Given the description of an element on the screen output the (x, y) to click on. 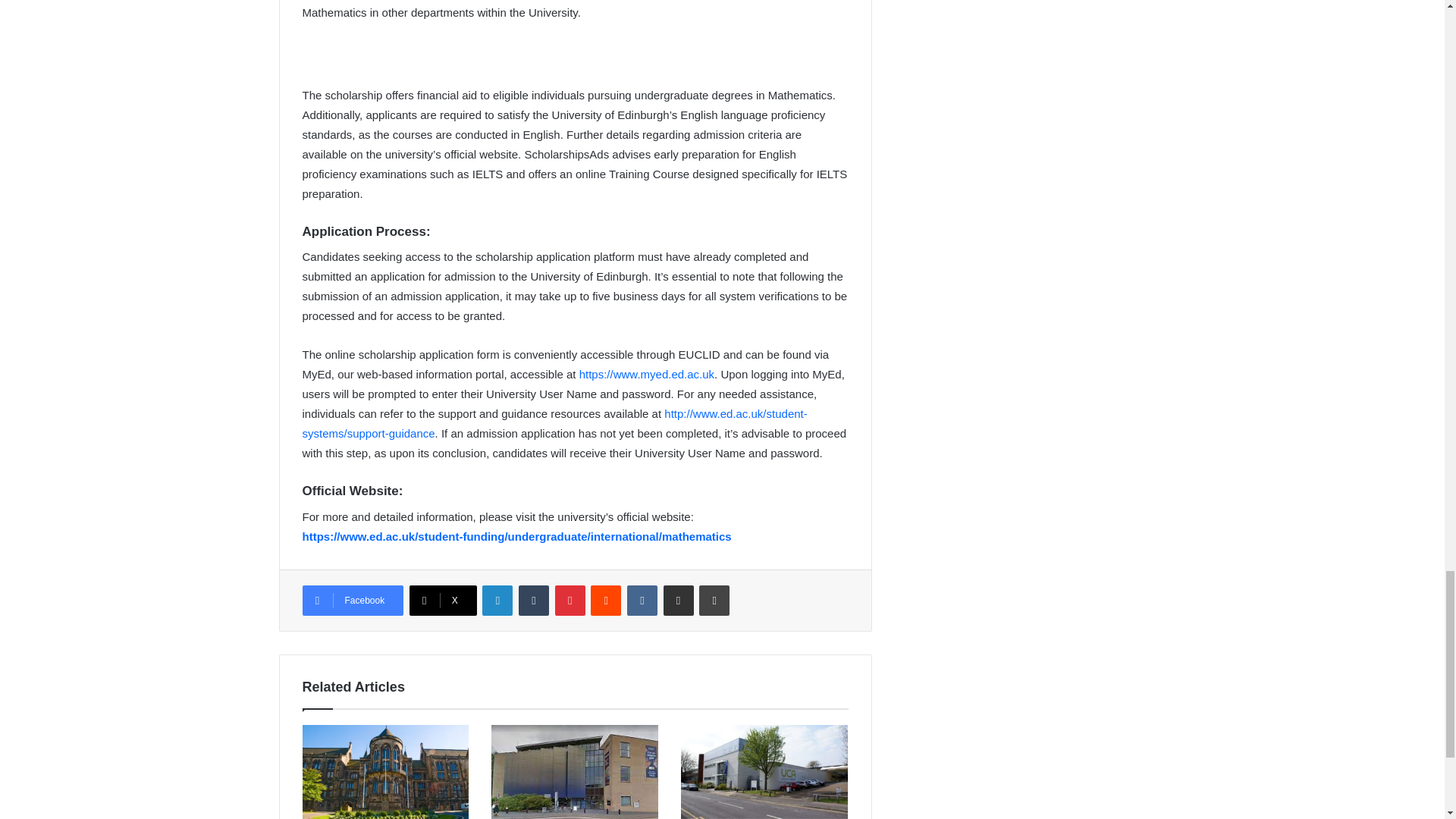
Tumblr (533, 600)
Print (713, 600)
Print (713, 600)
Facebook (352, 600)
Facebook (352, 600)
X (443, 600)
VKontakte (642, 600)
Share via Email (678, 600)
Share via Email (678, 600)
VKontakte (642, 600)
Pinterest (569, 600)
LinkedIn (496, 600)
Reddit (606, 600)
Reddit (606, 600)
Pinterest (569, 600)
